Given the description of an element on the screen output the (x, y) to click on. 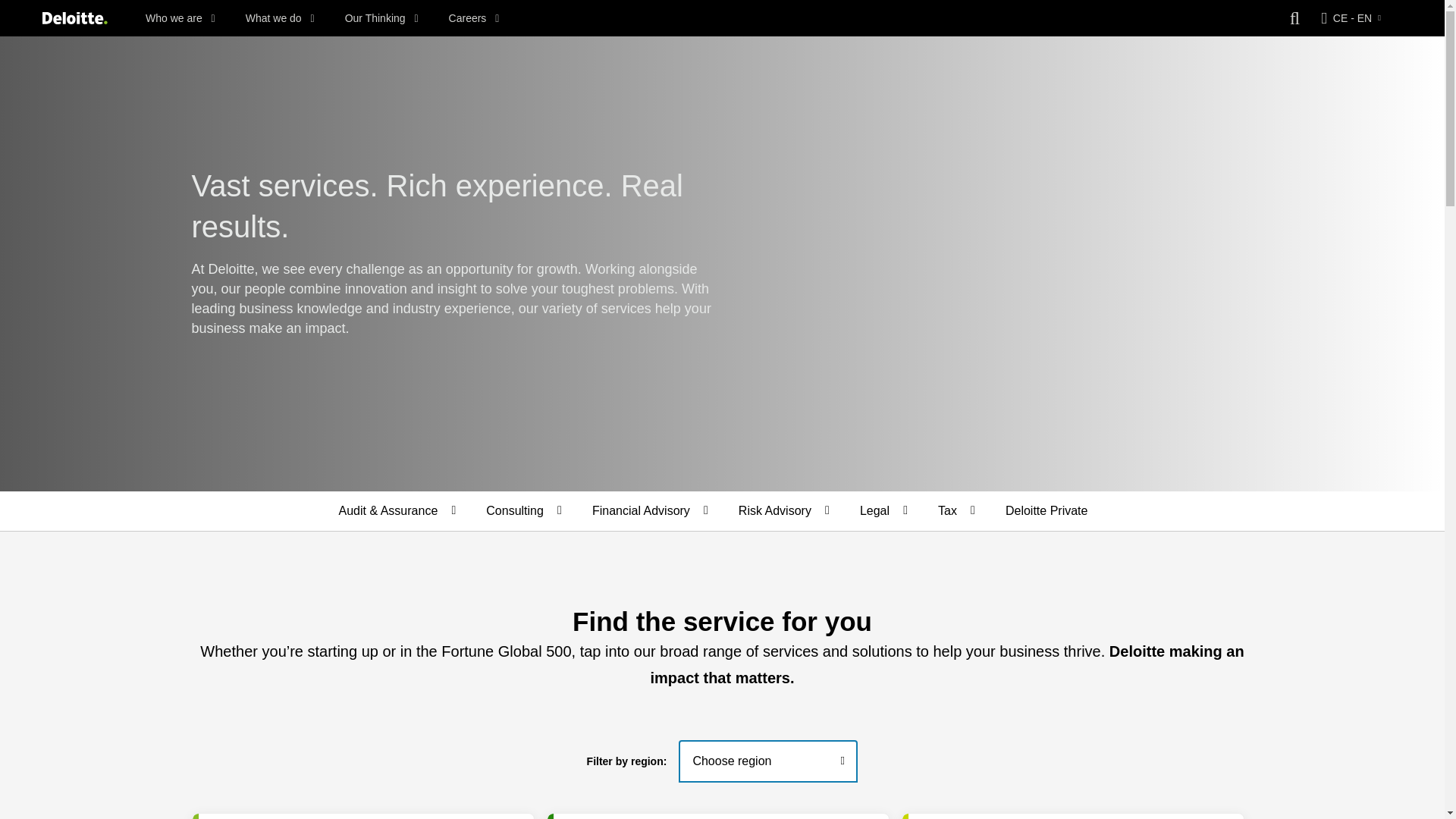
Who we are (180, 18)
Our Thinking (382, 18)
Deloitte (74, 18)
What we do (280, 18)
Careers (473, 18)
